Given the description of an element on the screen output the (x, y) to click on. 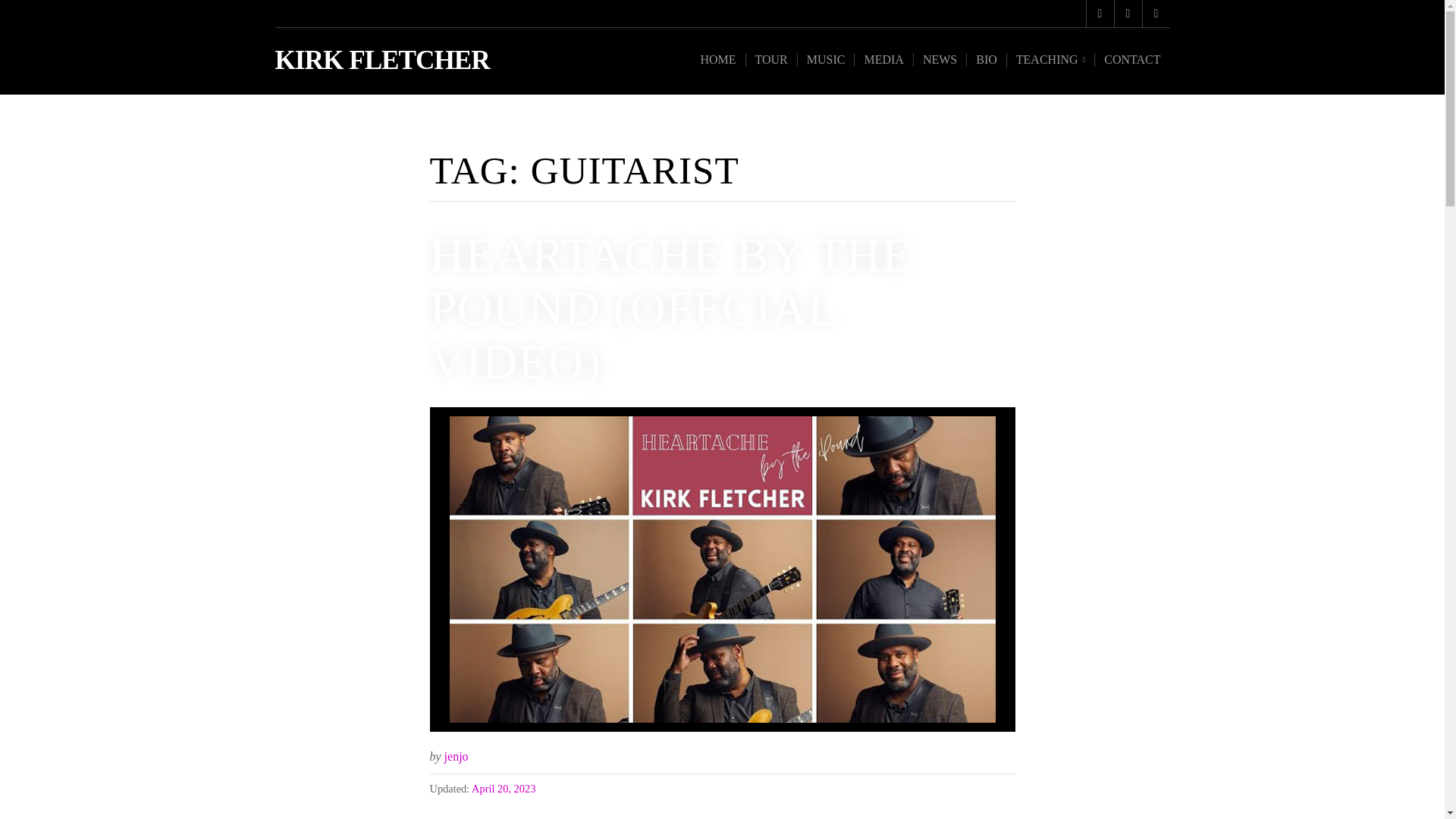
NEWS (939, 59)
Posts by jenjo (456, 756)
HOME (717, 59)
TOUR (770, 59)
jenjo (456, 756)
TEACHING (1050, 60)
MUSIC (825, 59)
MEDIA (882, 59)
4:55 PM (503, 788)
KIRK FLETCHER (382, 60)
BIO (986, 59)
CONTACT (1131, 59)
April 20, 2023 (503, 788)
